Given the description of an element on the screen output the (x, y) to click on. 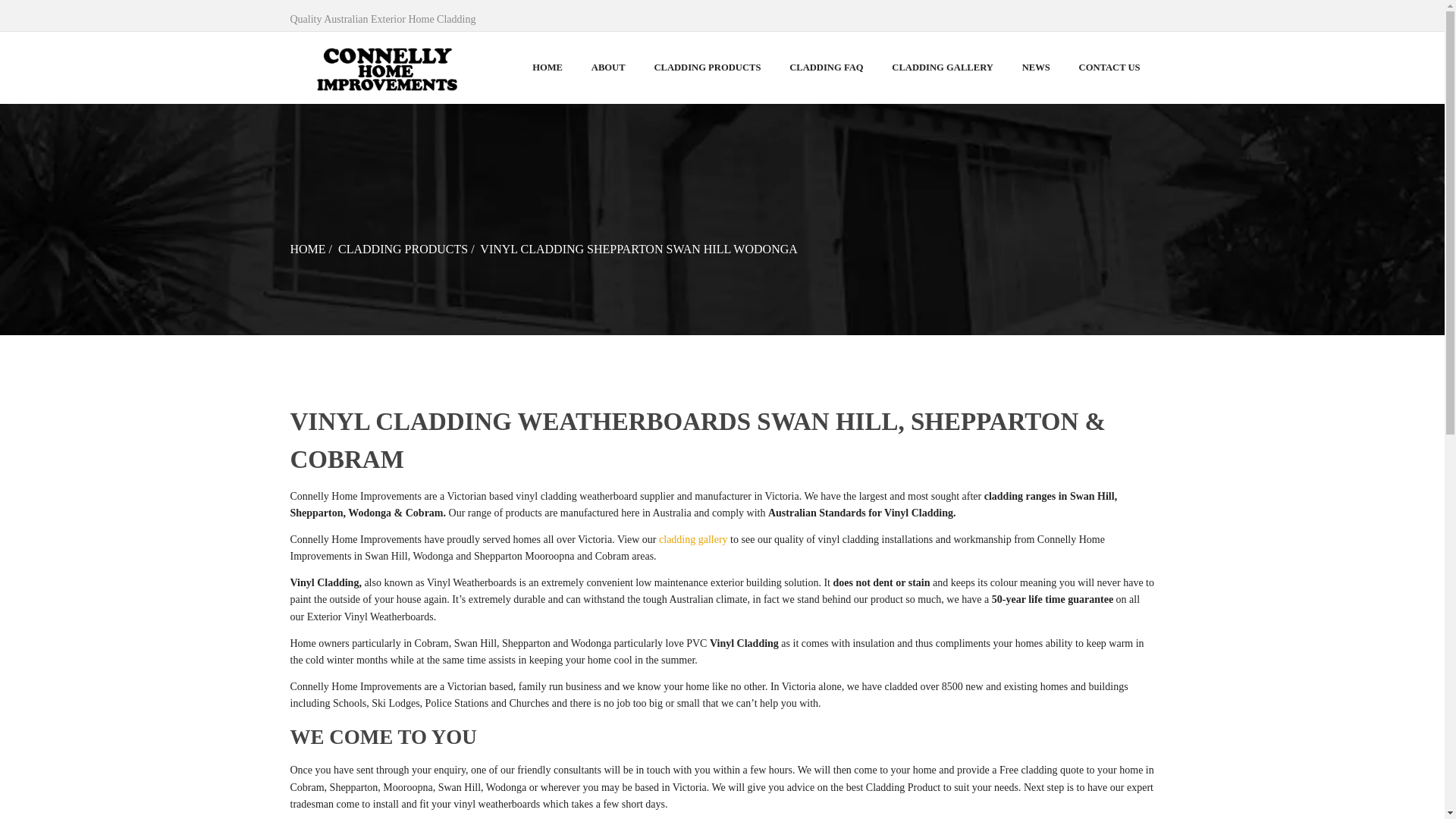
HOME (306, 248)
Cladding Products (402, 248)
CLADDING PRODUCTS (708, 67)
CLADDING GALLERY (942, 67)
CLADDING FAQ (825, 67)
CONTACT US (1109, 67)
Home (306, 248)
cladding gallery (693, 539)
CLADDING PRODUCTS (402, 248)
